Given the description of an element on the screen output the (x, y) to click on. 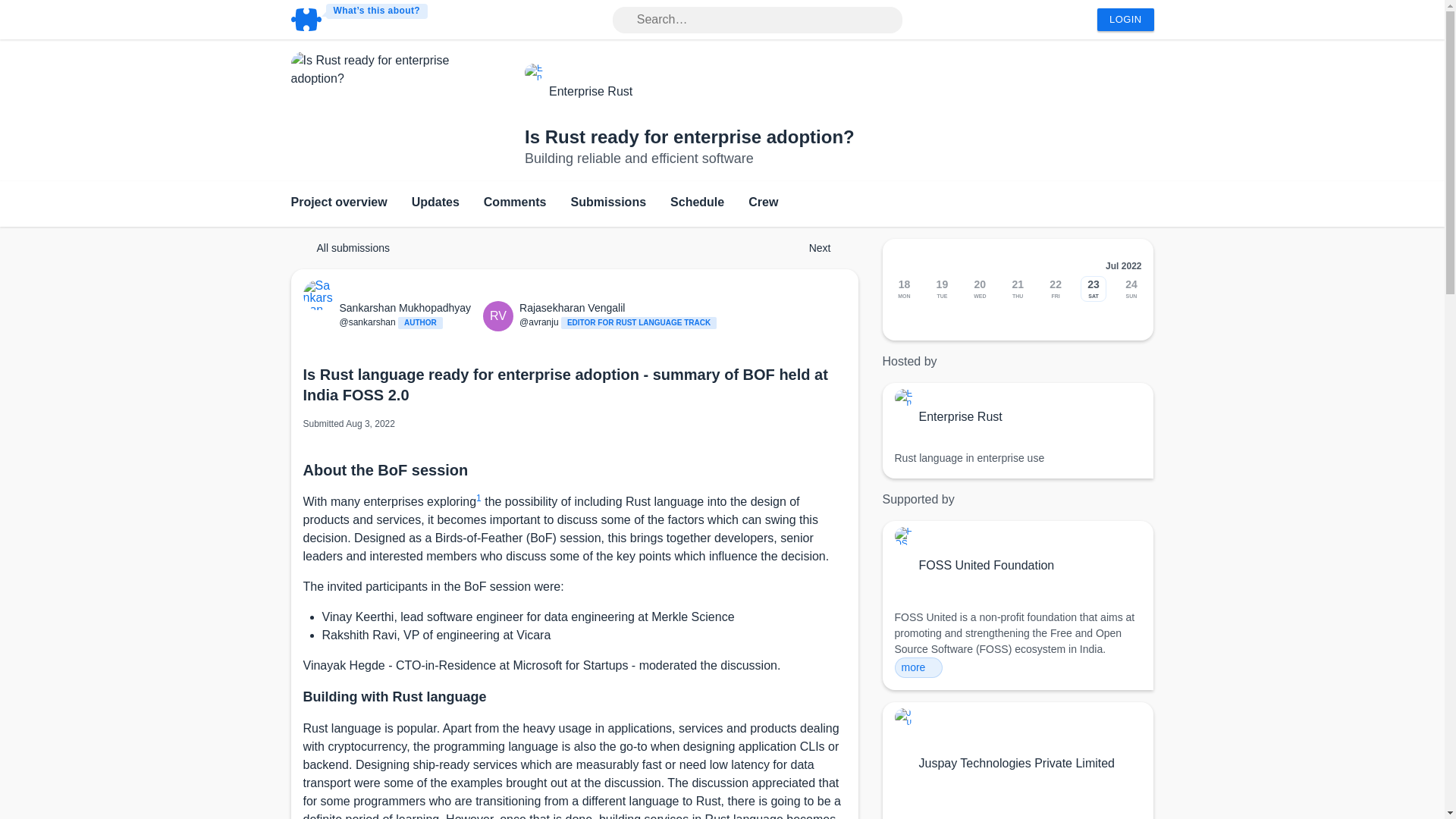
Updates (436, 203)
Is Rust ready for enterprise adoption? (689, 136)
Submissions (608, 203)
About the BoF session (385, 469)
RV (501, 316)
LOGIN (1125, 19)
Project overview (339, 203)
Building with Rust language (394, 696)
Schedule (696, 203)
Comments (515, 203)
